Given the description of an element on the screen output the (x, y) to click on. 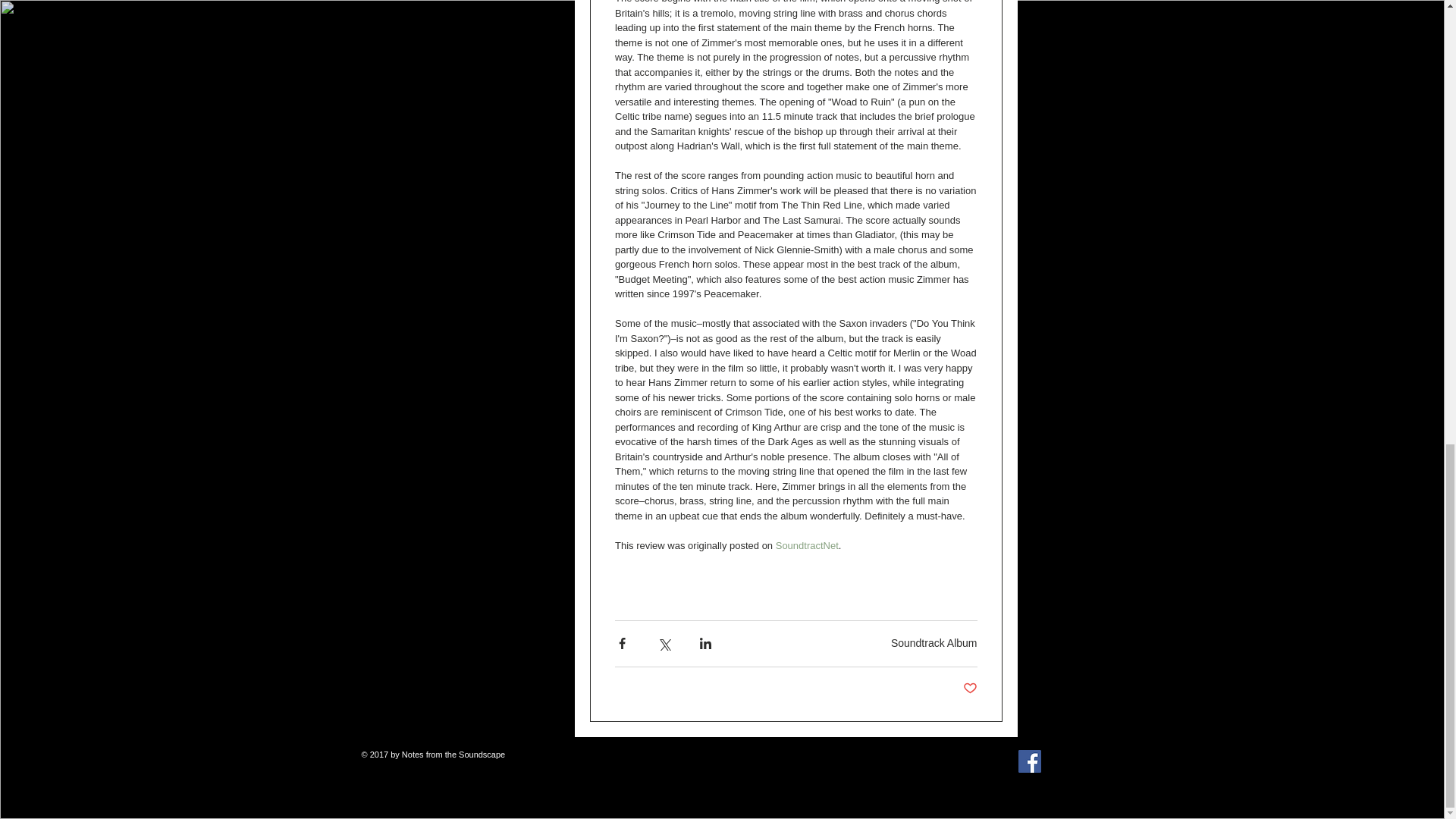
Soundtrack Album (933, 643)
Post not marked as liked (969, 688)
SoundtractNet (806, 544)
